Given the description of an element on the screen output the (x, y) to click on. 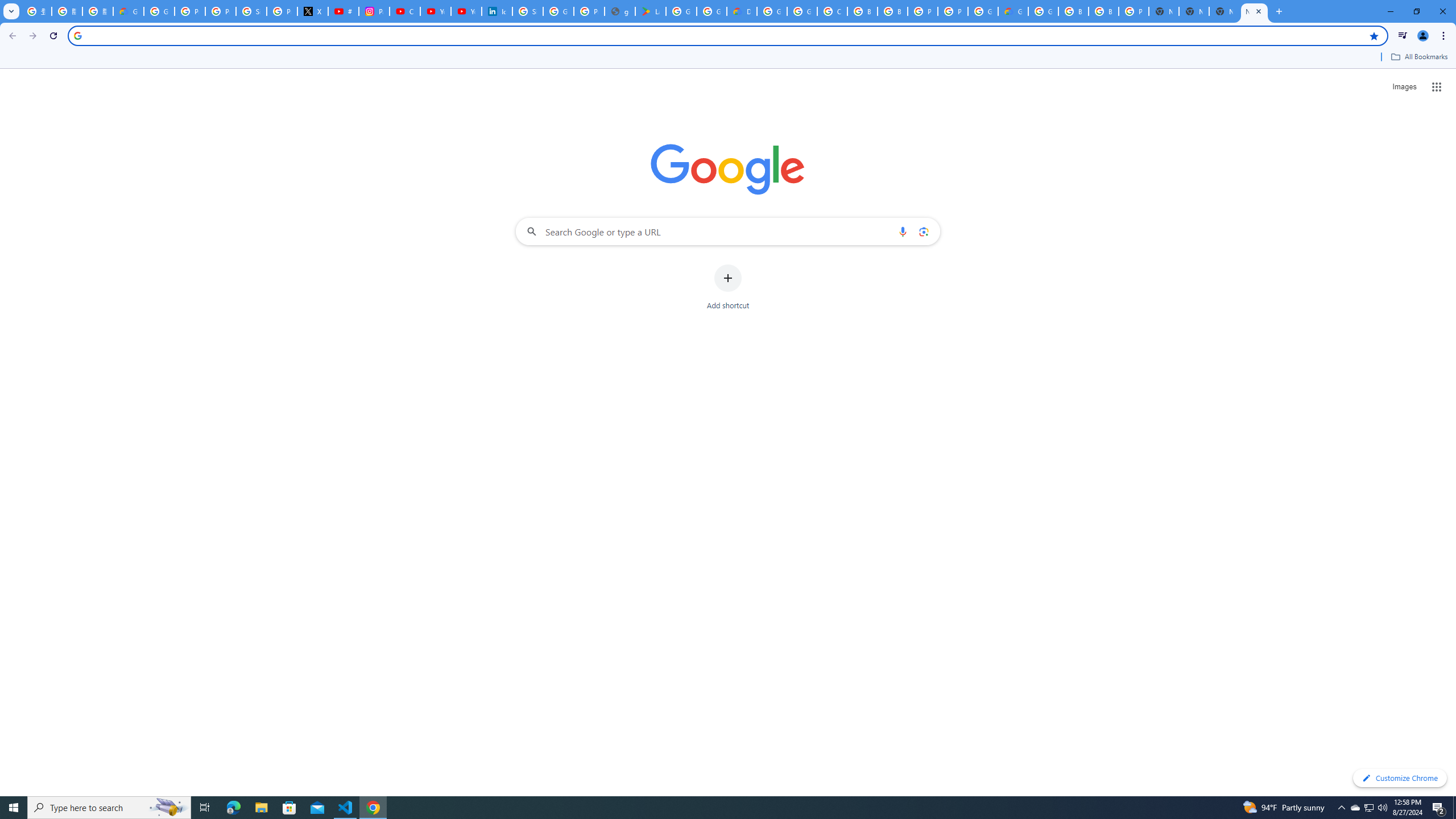
Customize Chrome (1399, 778)
Browse Chrome as a guest - Computer - Google Chrome Help (862, 11)
Google Cloud Platform (982, 11)
Sign in - Google Accounts (251, 11)
Google Workspace - Specific Terms (711, 11)
X (312, 11)
